Given the description of an element on the screen output the (x, y) to click on. 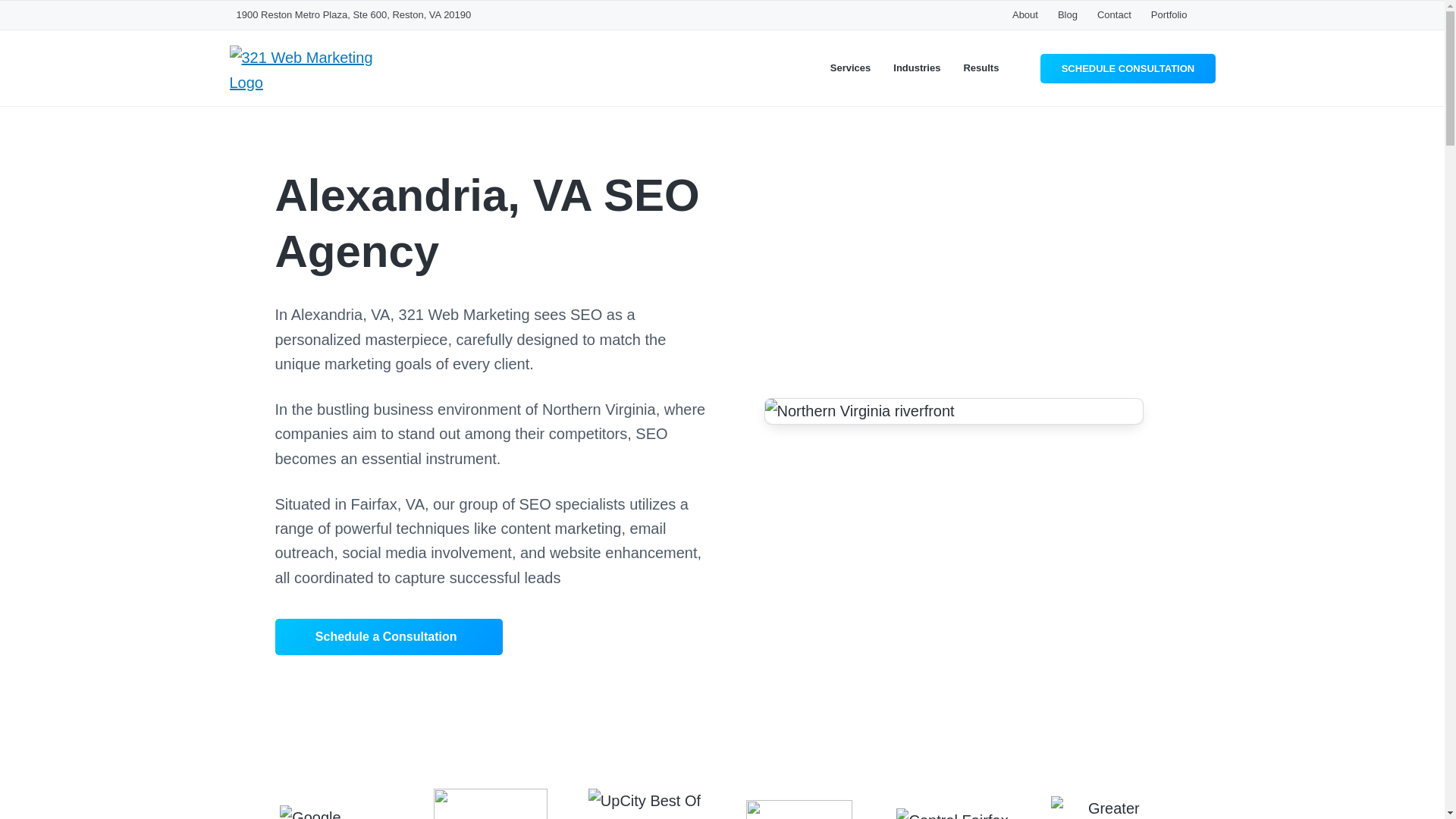
Results (980, 67)
Services (849, 67)
1900 Reston Metro Plaza, Ste 600, Reston, VA 20190 (353, 14)
Blog (1067, 14)
Contact (1114, 14)
Portfolio (1169, 14)
About (1024, 14)
Industries (916, 67)
